Given the description of an element on the screen output the (x, y) to click on. 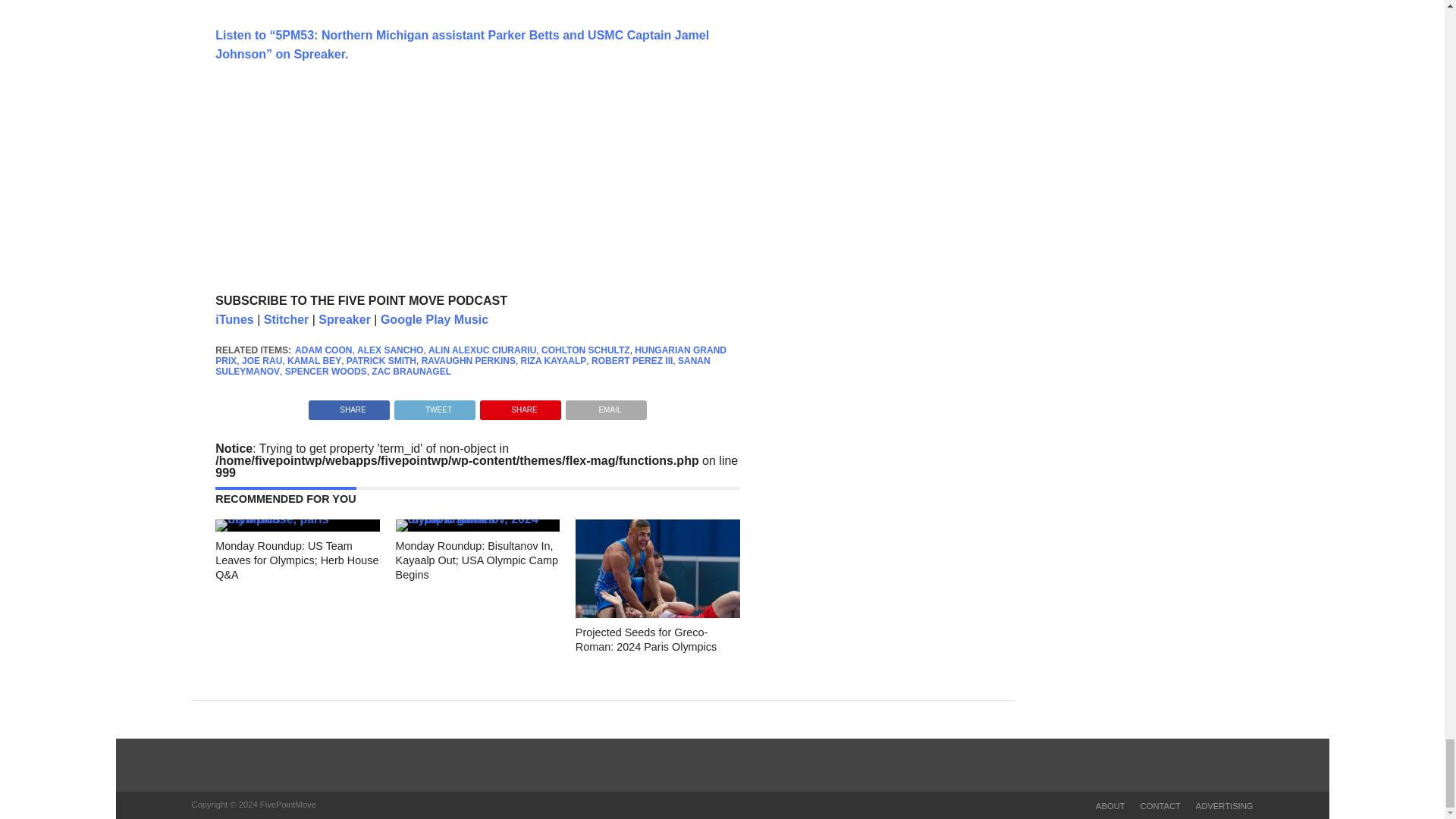
Tweet This Post (434, 405)
Stitcher (285, 318)
iTunes (234, 318)
Pin This Post (520, 405)
Share on Facebook (349, 405)
